Given the description of an element on the screen output the (x, y) to click on. 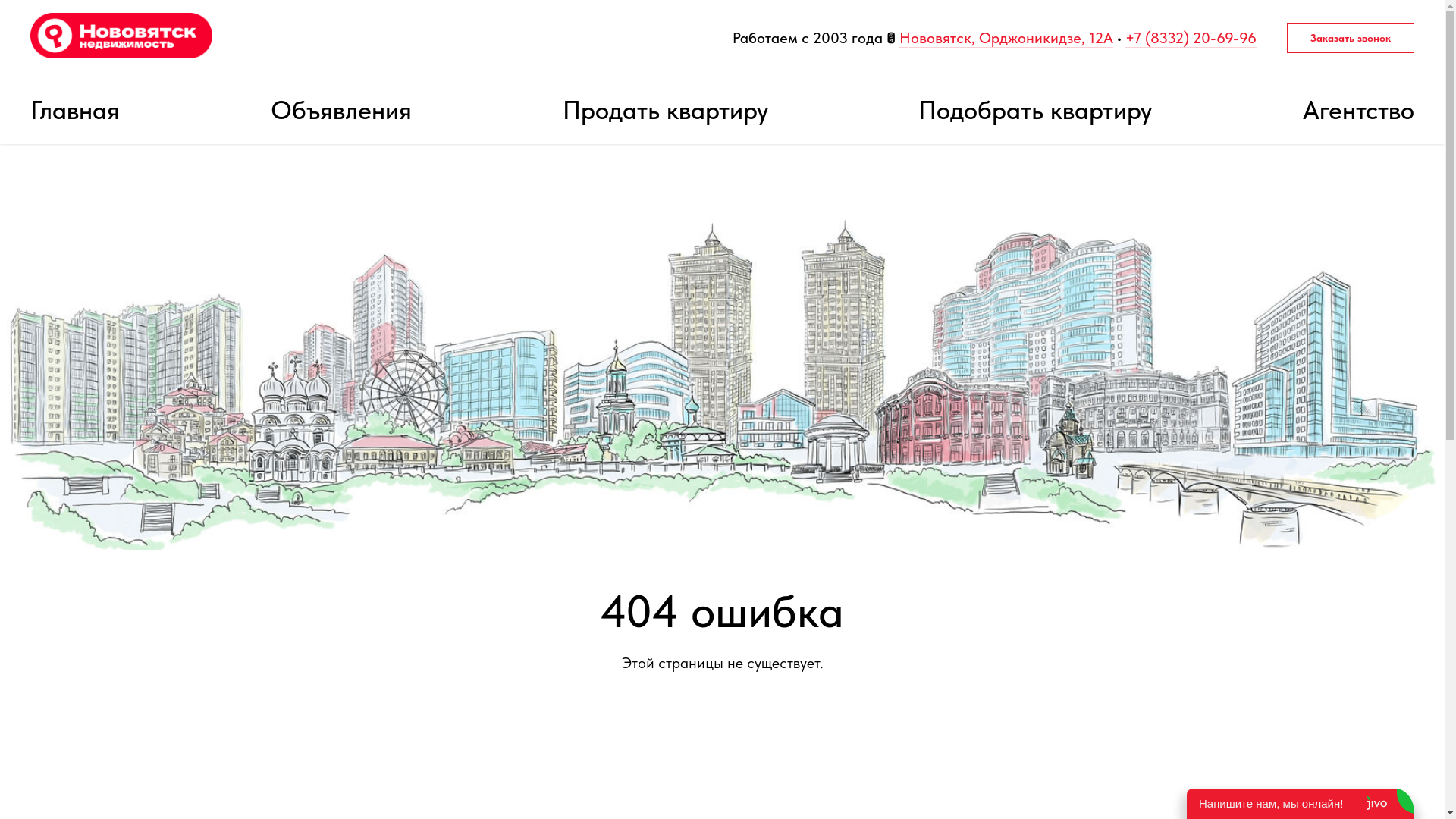
+7 (8332) 20-69-96 Element type: text (1190, 37)
